Given the description of an element on the screen output the (x, y) to click on. 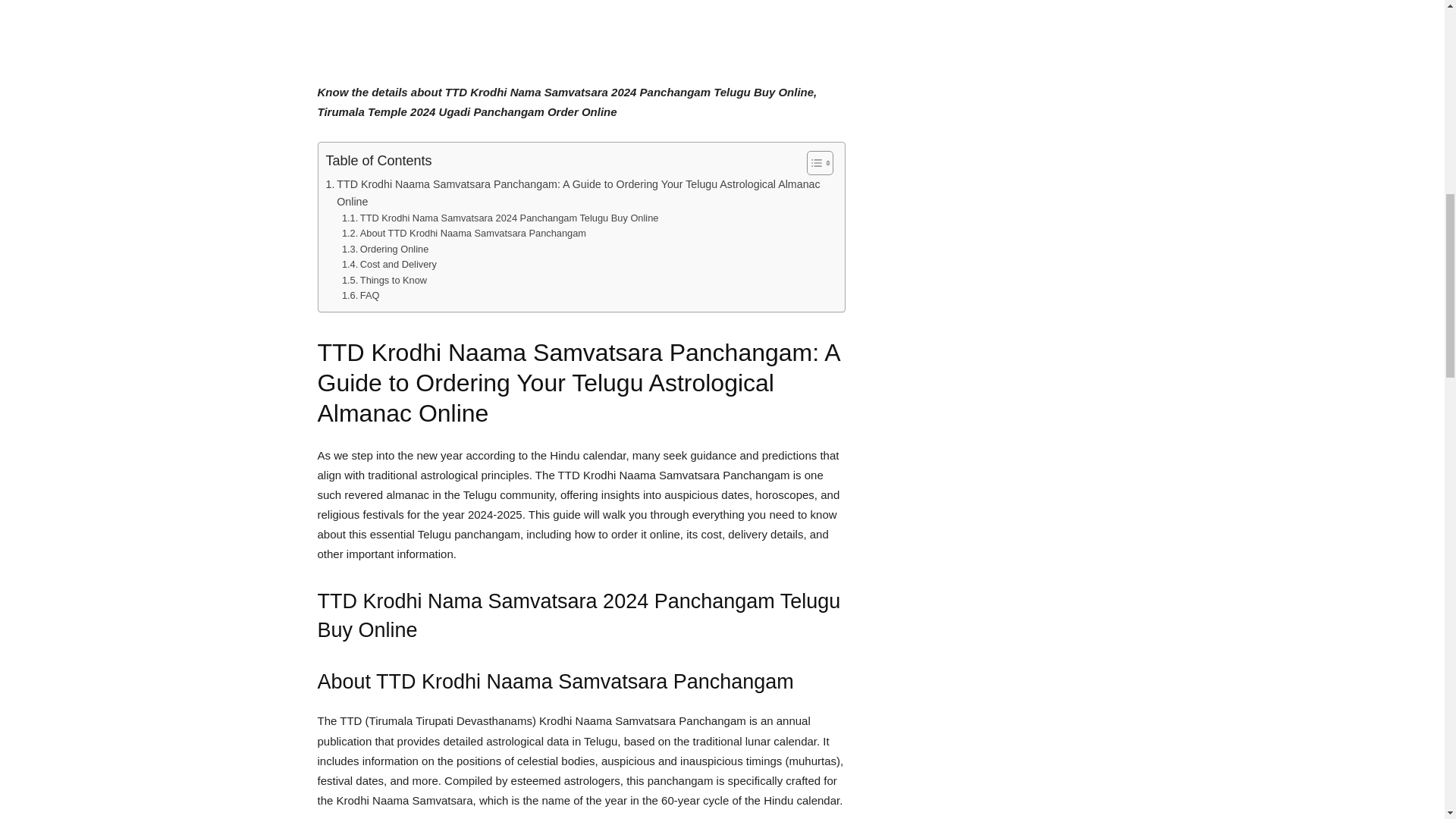
TTD Krodhi Nama Samvatsara 2024 Panchangam Telugu Buy Online (500, 218)
About TTD Krodhi Naama Samvatsara Panchangam (464, 233)
Cost and Delivery (389, 264)
Ordering Online (385, 249)
TTD Krodhi Nama Samvatsara 2024 Panchangam Telugu Buy Online (500, 218)
About TTD Krodhi Naama Samvatsara Panchangam (464, 233)
Ordering Online (385, 249)
FAQ (361, 295)
Things to Know (384, 280)
